Given the description of an element on the screen output the (x, y) to click on. 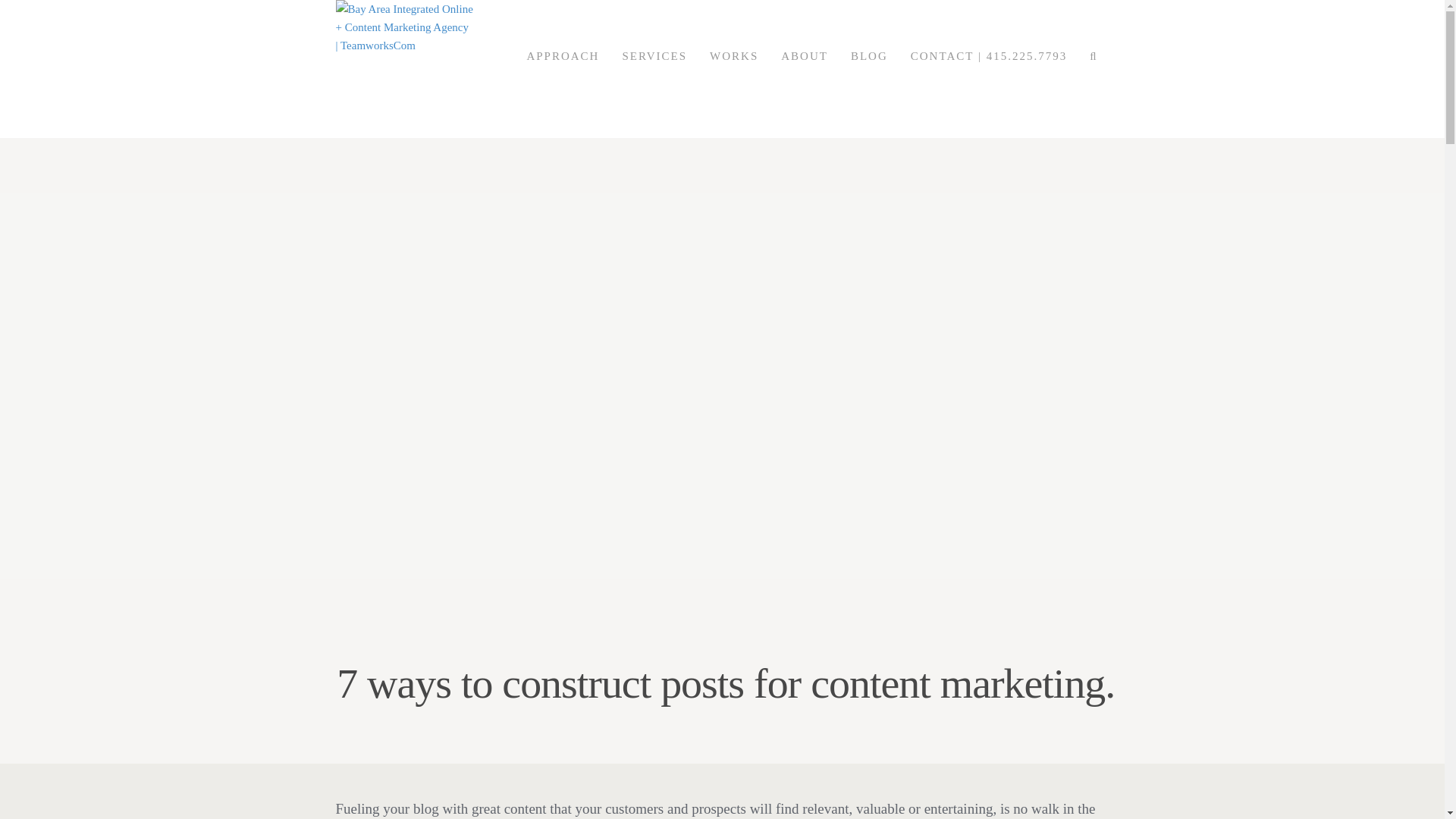
SERVICES (654, 68)
Skip to navigation (376, 68)
ABOUT (805, 68)
WORKS (734, 68)
APPROACH (562, 68)
Skip to content (369, 68)
BLOG (869, 68)
